Given the description of an element on the screen output the (x, y) to click on. 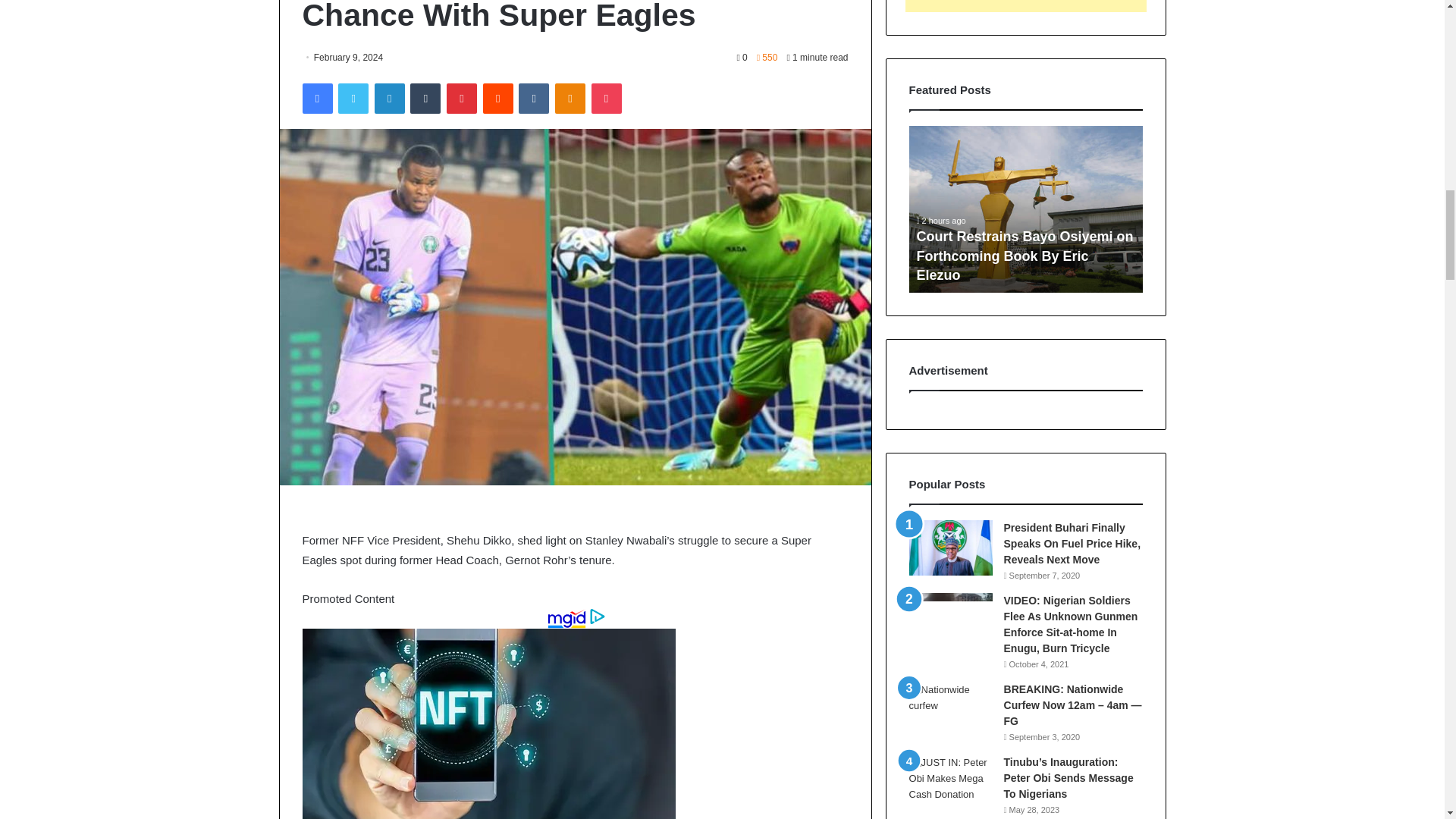
Facebook (316, 98)
LinkedIn (389, 98)
Twitter (352, 98)
Pinterest (461, 98)
Reddit (498, 98)
Pocket (606, 98)
Pinterest (461, 98)
Facebook (316, 98)
Reddit (498, 98)
Tumblr (425, 98)
